Given the description of an element on the screen output the (x, y) to click on. 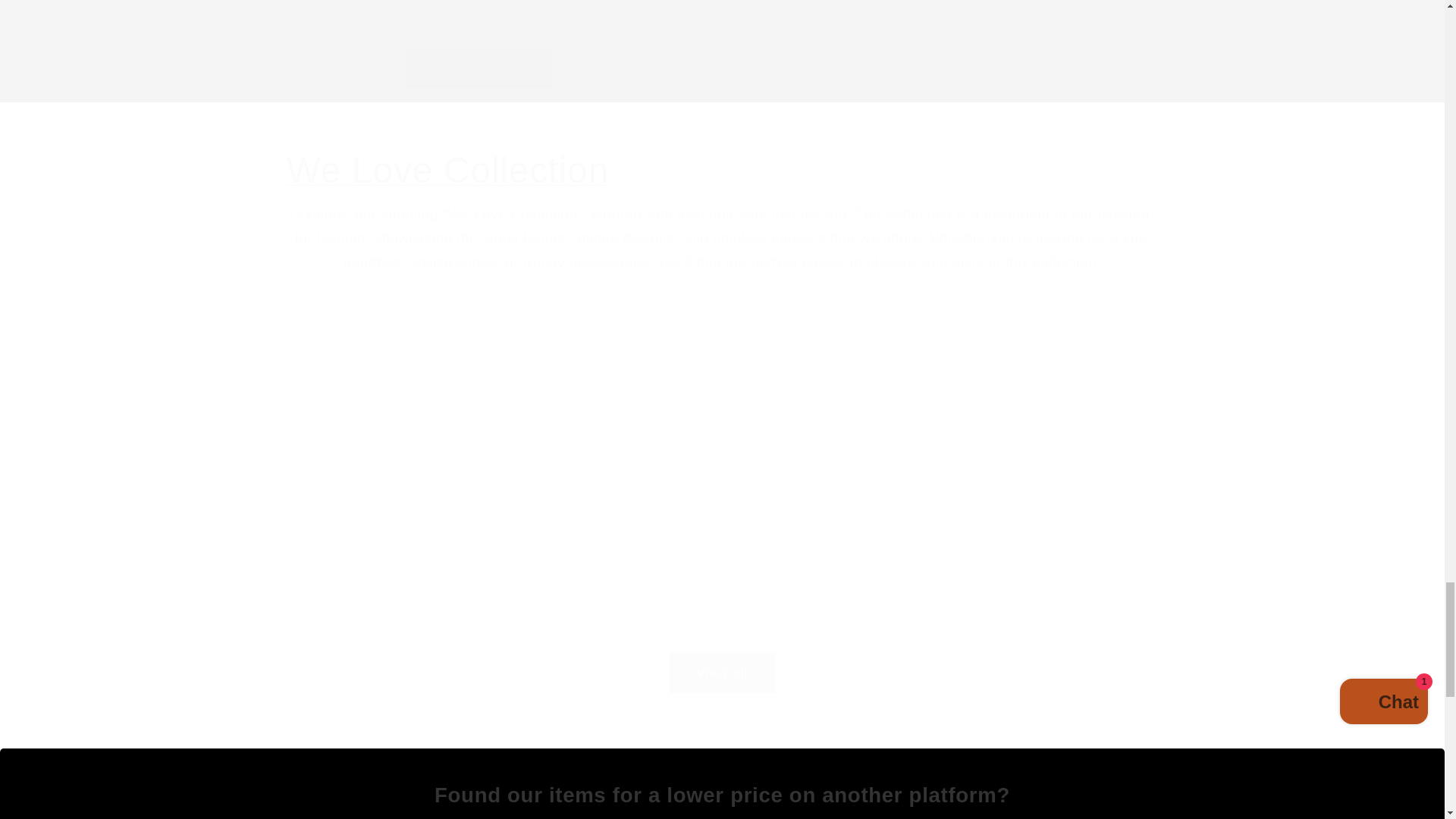
We Love Collection (722, 170)
Post comment (478, 67)
